Given the description of an element on the screen output the (x, y) to click on. 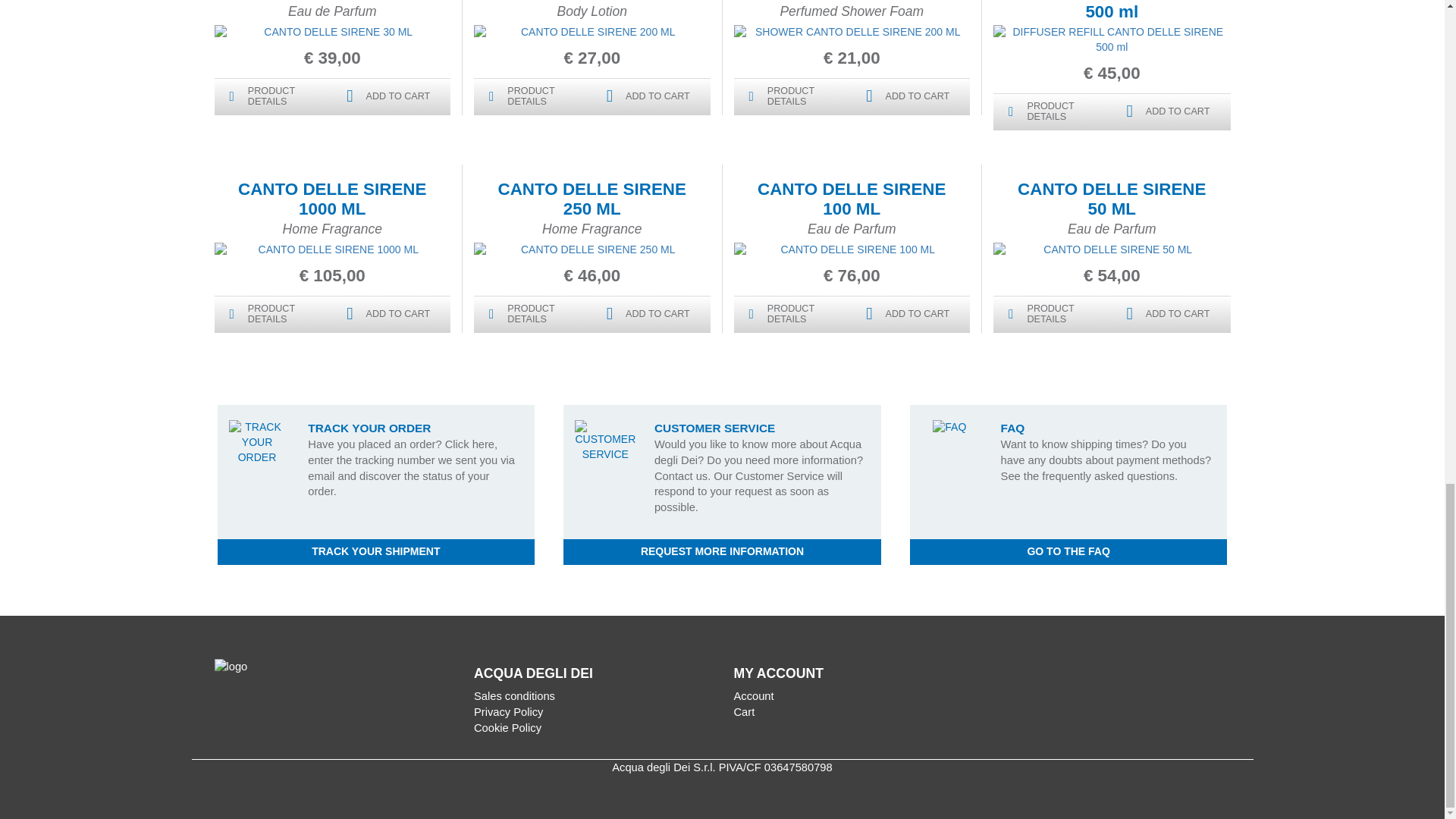
FAQ (949, 427)
CUSTOMER SERVICE (604, 441)
TRACK YOUR ORDER (256, 443)
